Given the description of an element on the screen output the (x, y) to click on. 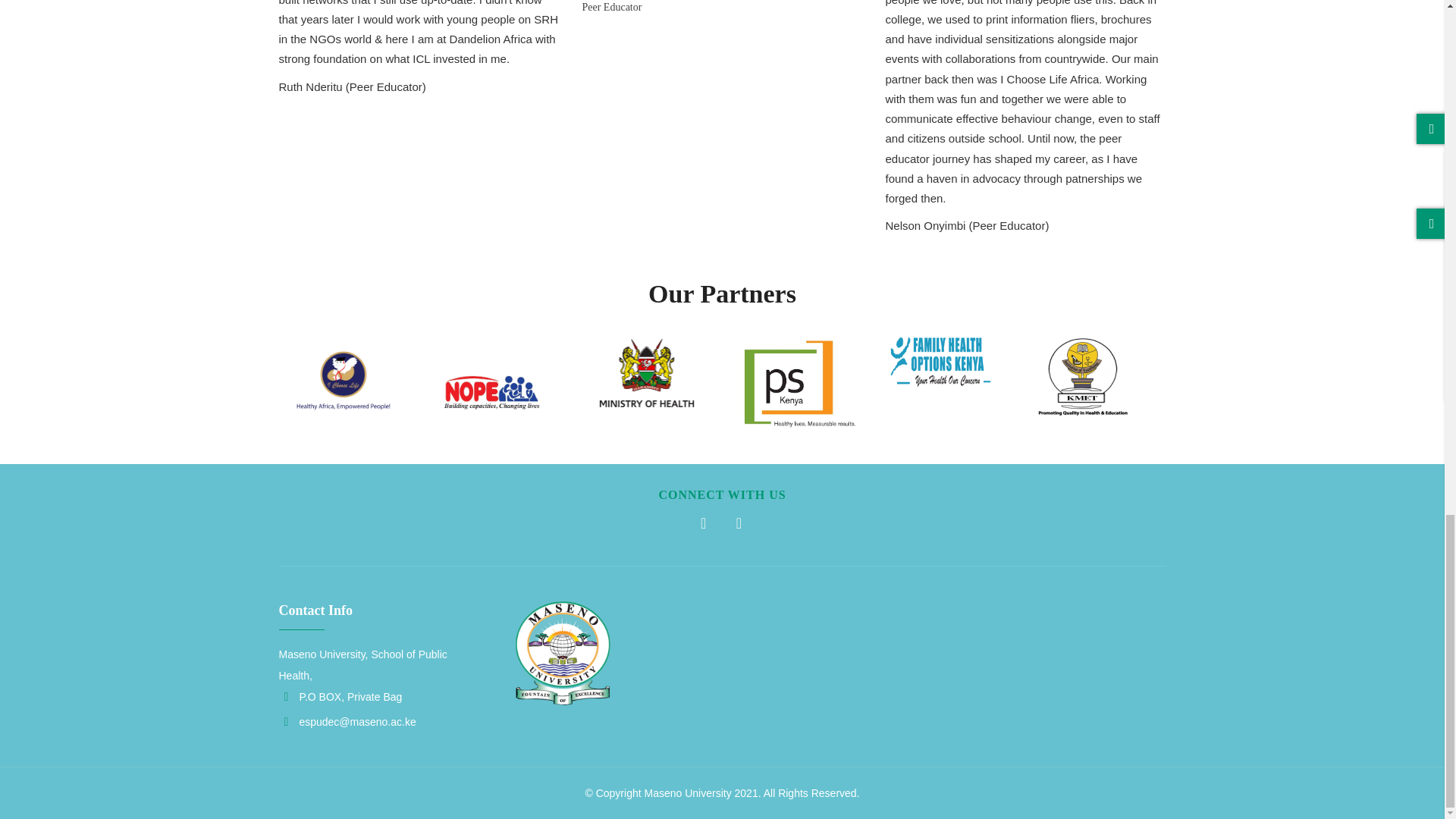
Maseno University (686, 793)
